Given the description of an element on the screen output the (x, y) to click on. 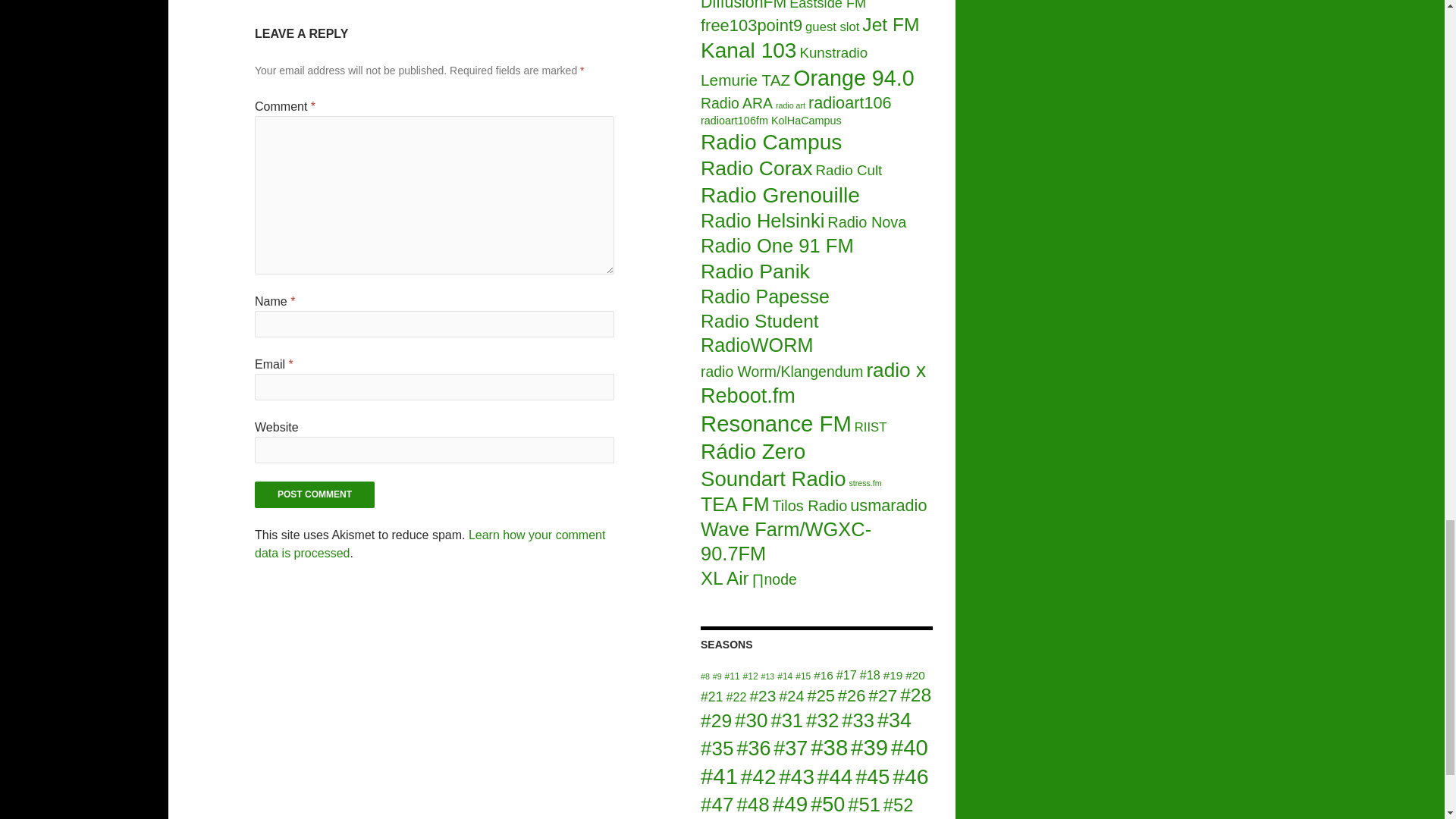
Post Comment (314, 494)
Post Comment (314, 494)
Learn how your comment data is processed (429, 543)
